Given the description of an element on the screen output the (x, y) to click on. 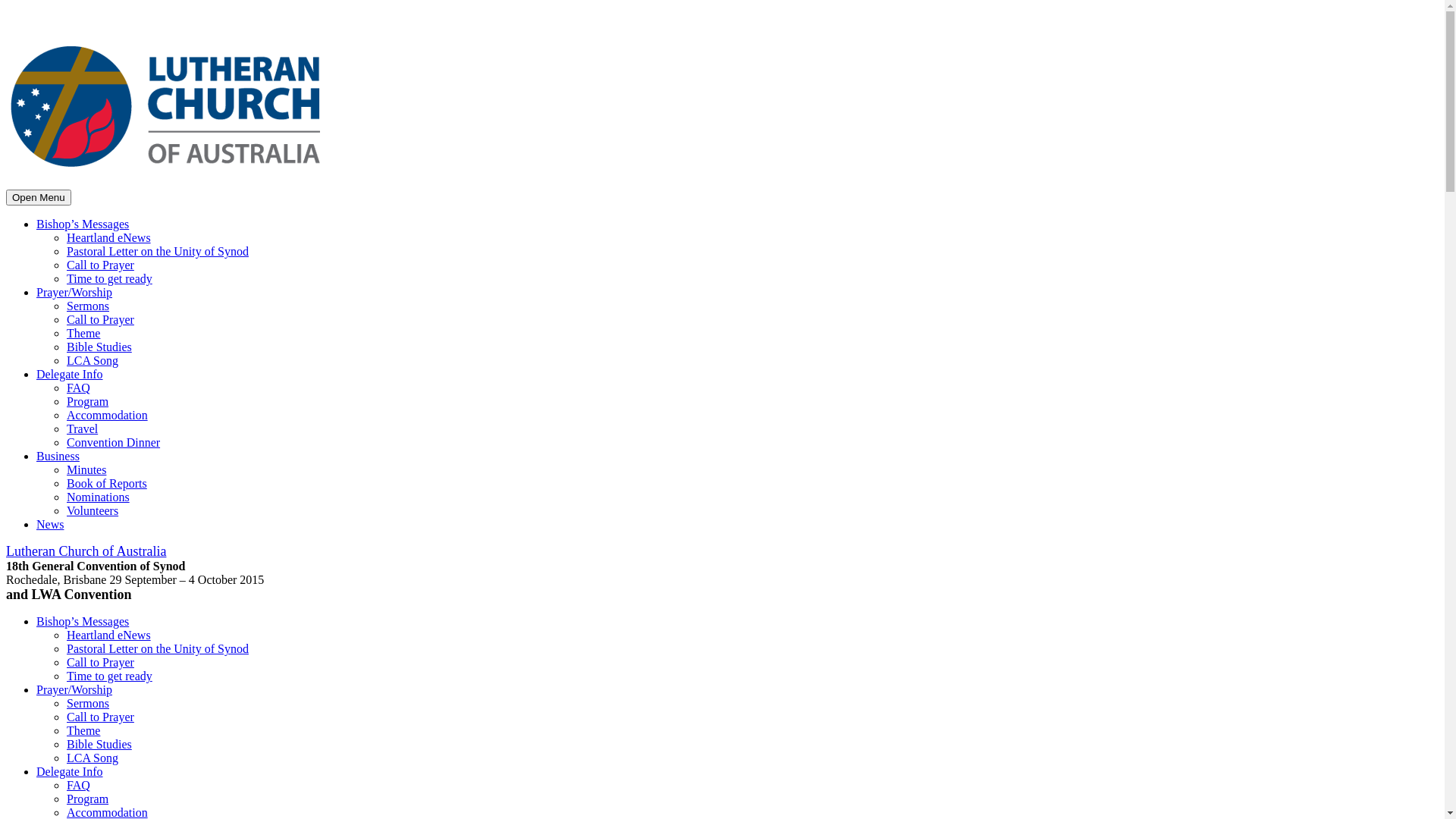
Bible Studies Element type: text (98, 743)
News Element type: text (49, 523)
LCA Song Element type: text (92, 360)
Call to Prayer Element type: text (100, 716)
Theme Element type: text (83, 730)
Delegate Info Element type: text (69, 373)
Volunteers Element type: text (92, 510)
Sermons Element type: text (87, 305)
FAQ Element type: text (78, 784)
LCA Song Element type: text (92, 757)
Accommodation Element type: text (106, 414)
Theme Element type: text (83, 332)
Call to Prayer Element type: text (100, 661)
Pastoral Letter on the Unity of Synod Element type: text (157, 648)
Heartland eNews Element type: text (108, 237)
Prayer/Worship Element type: text (74, 291)
Nominations Element type: text (97, 496)
Minutes Element type: text (86, 469)
Call to Prayer Element type: text (100, 264)
Sermons Element type: text (87, 702)
FAQ Element type: text (78, 387)
Business Element type: text (57, 455)
Call to Prayer Element type: text (100, 319)
Open Menu Element type: text (38, 197)
Time to get ready Element type: text (109, 675)
Program Element type: text (87, 798)
Time to get ready Element type: text (109, 278)
Program Element type: text (87, 401)
Travel Element type: text (81, 428)
Convention Dinner Element type: text (113, 442)
Prayer/Worship Element type: text (74, 689)
Heartland eNews Element type: text (108, 634)
Book of Reports Element type: text (106, 482)
Delegate Info Element type: text (69, 771)
Lutheran Church of Australia Element type: text (86, 551)
Pastoral Letter on the Unity of Synod Element type: text (157, 250)
Bible Studies Element type: text (98, 346)
